Given the description of an element on the screen output the (x, y) to click on. 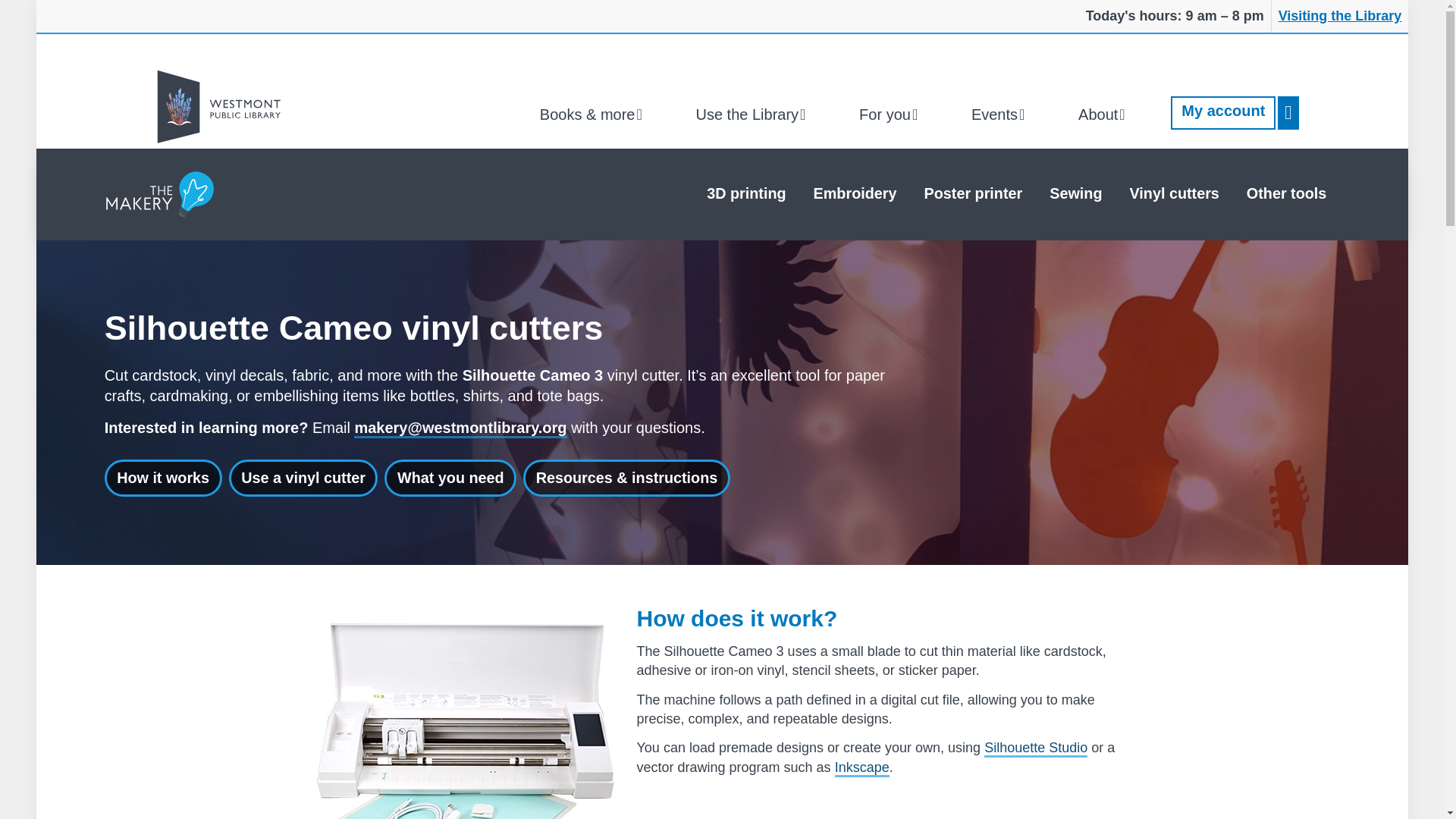
Skip to content (16, 15)
Makery home (159, 194)
Use the Library (753, 114)
Westmont Public Library homepage (221, 106)
For you (892, 114)
Visiting the Library (1340, 16)
